Given the description of an element on the screen output the (x, y) to click on. 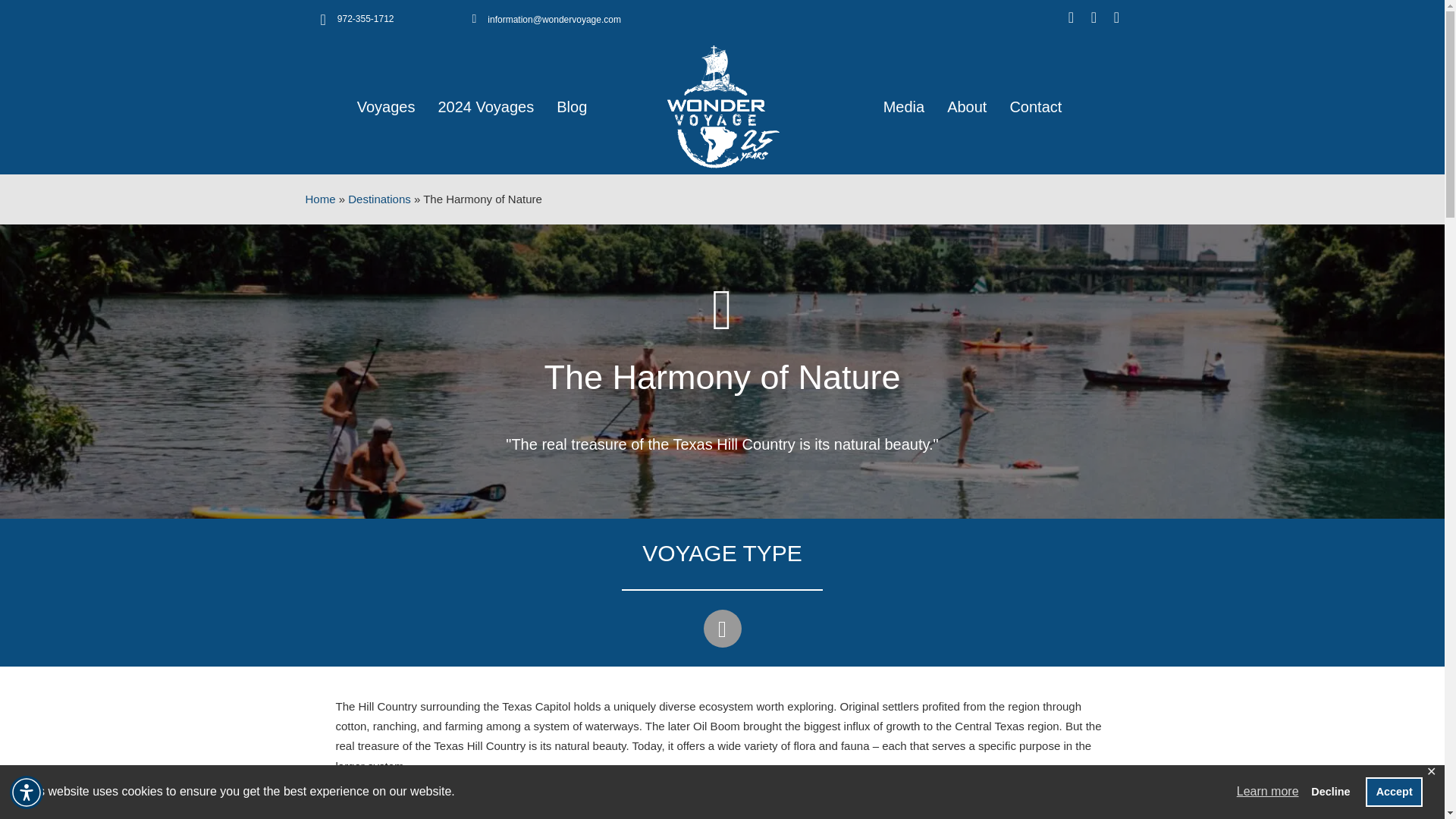
2024 Voyages (485, 106)
Accessibility Menu (26, 792)
Learn more (1267, 791)
Blog (571, 106)
972-355-1712 (365, 18)
Decline (1330, 791)
Accept (1393, 791)
Media (903, 106)
About (966, 106)
Wonder Voyage - Celebrating 25 Years of Wonder (721, 106)
Voyages (386, 106)
